Given the description of an element on the screen output the (x, y) to click on. 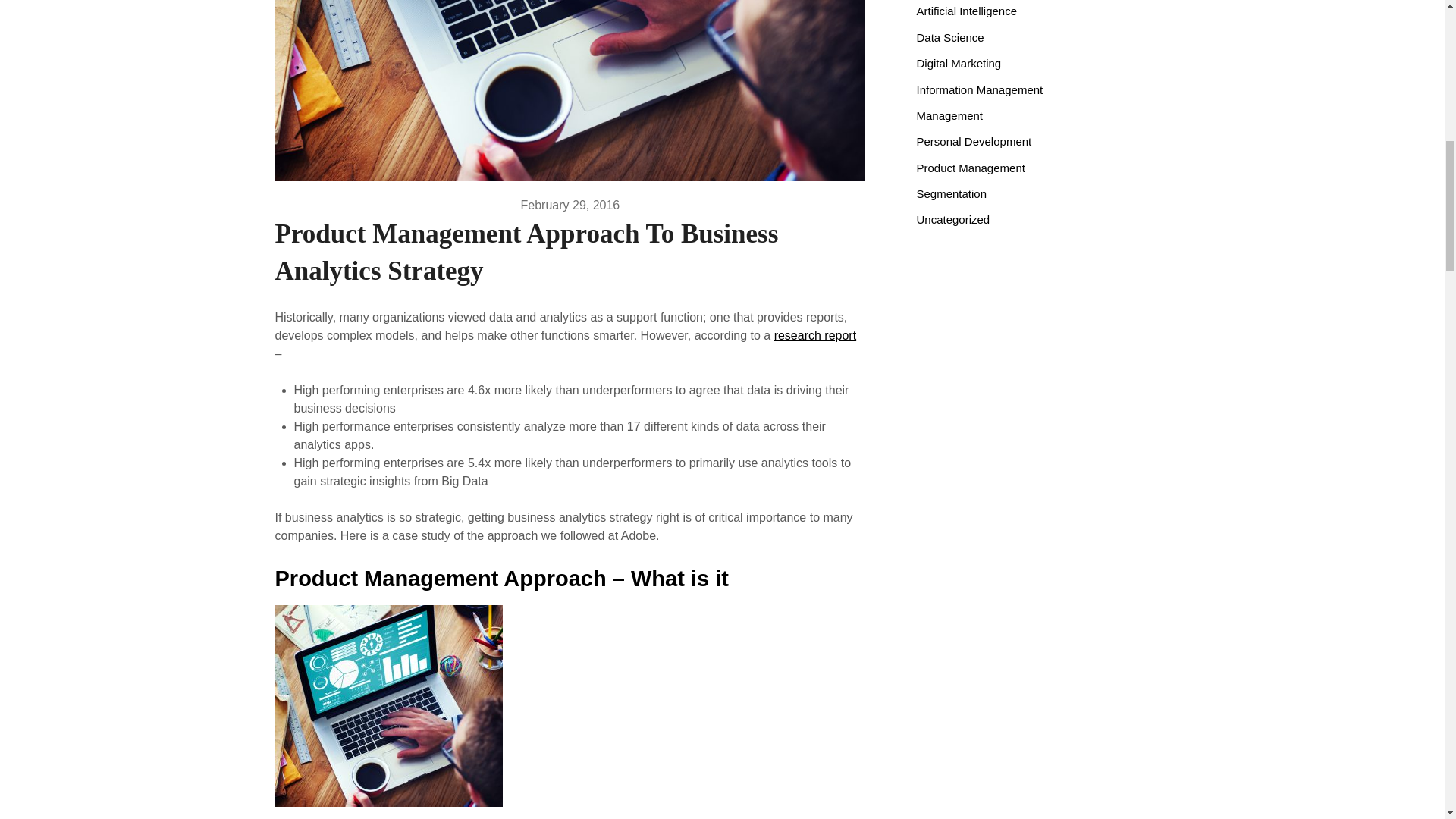
Digital Marketing (958, 62)
Data Science (949, 37)
research report (815, 335)
February 29, 2016 (570, 205)
Uncategorized (952, 219)
Personal Development (972, 141)
Management (948, 115)
Information Management (978, 89)
Segmentation (951, 193)
Product Management (970, 167)
Artificial Intelligence (965, 10)
